Given the description of an element on the screen output the (x, y) to click on. 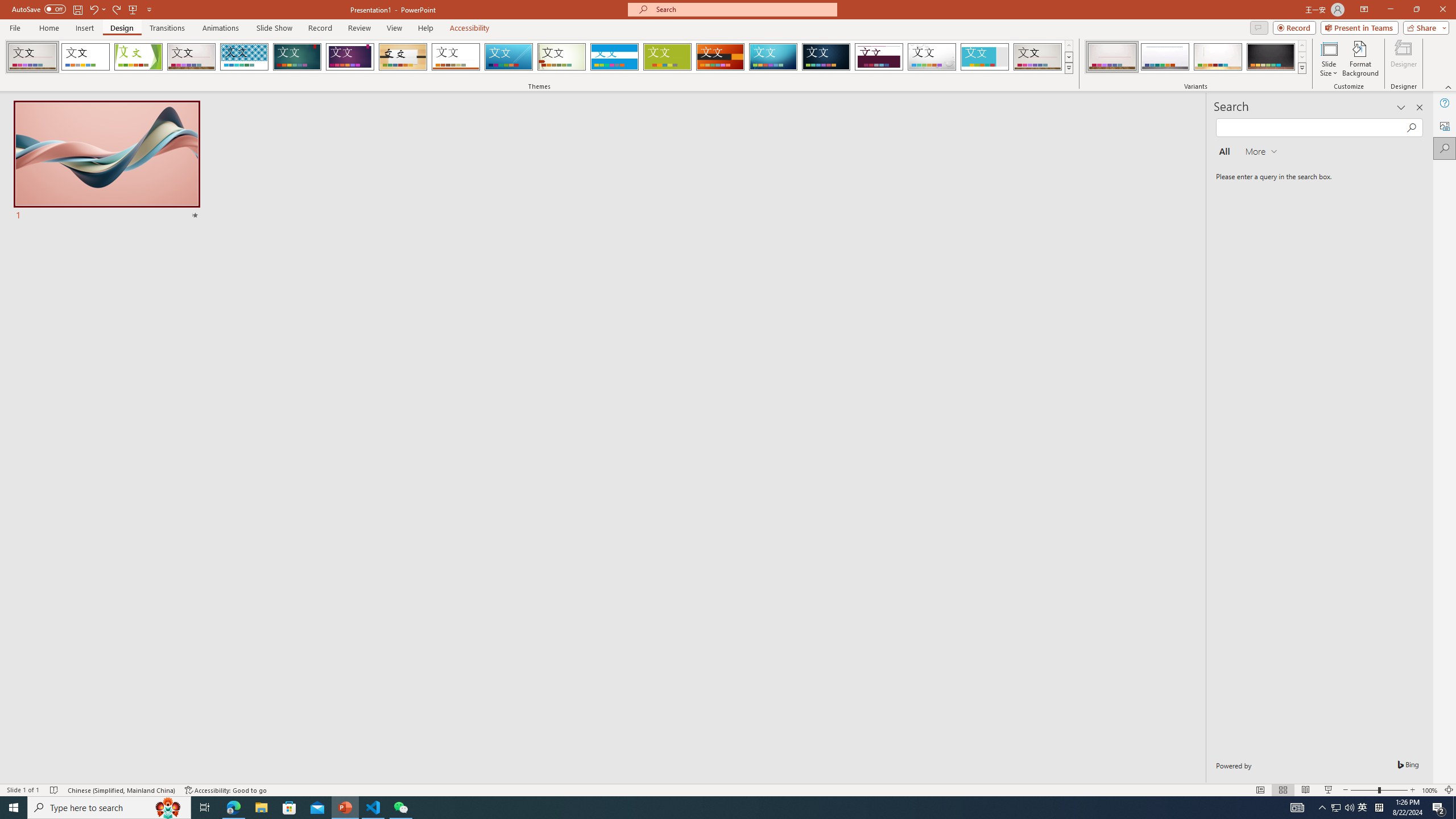
Droplet (931, 56)
AutomationID: ThemeVariantsGallery (1195, 56)
Retrospect (455, 56)
Berlin (720, 56)
Basis (667, 56)
Slice (508, 56)
